Given the description of an element on the screen output the (x, y) to click on. 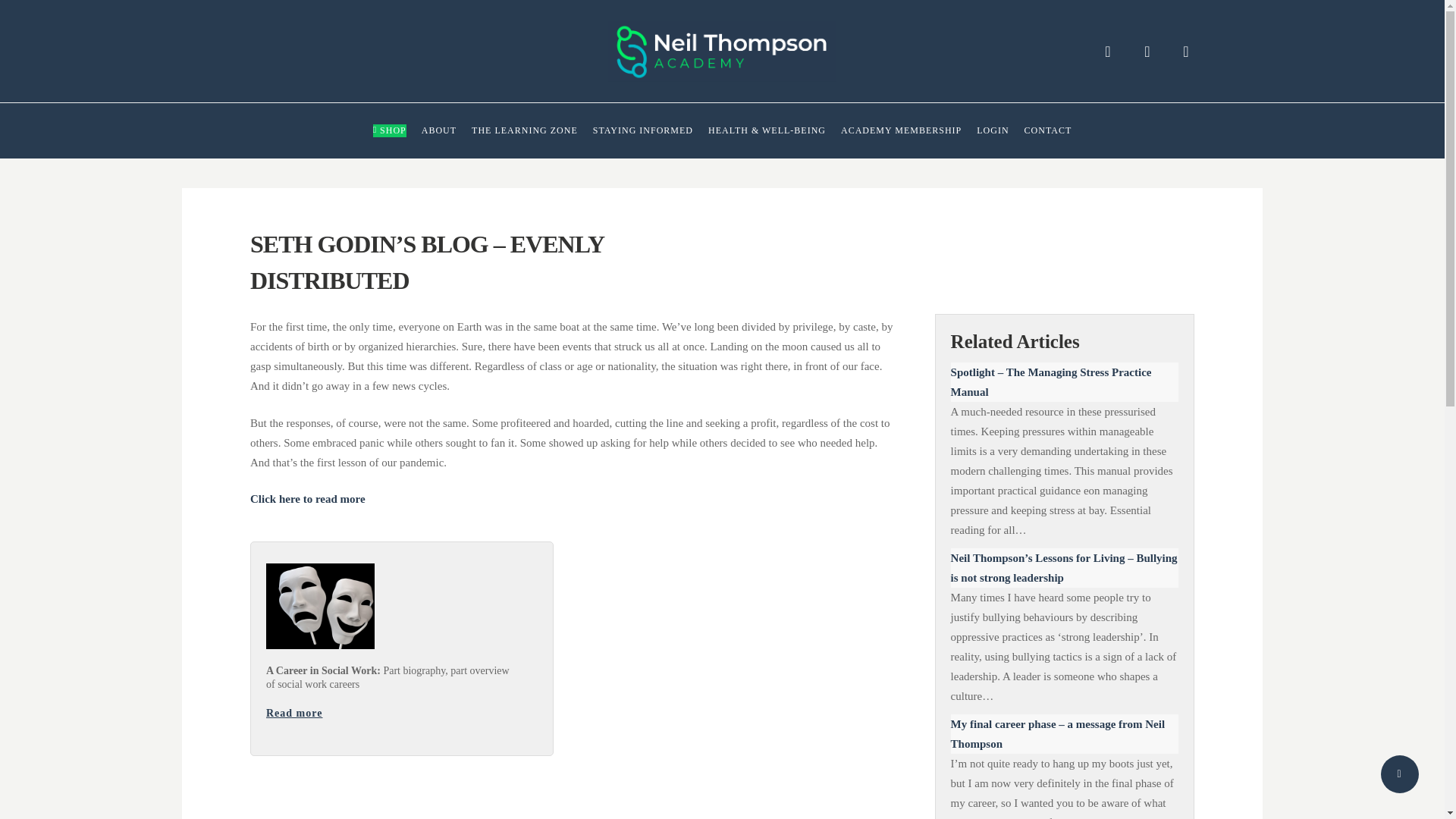
SHOP (389, 130)
search (1107, 51)
THE LEARNING ZONE (524, 130)
account (1147, 51)
ABOUT (439, 130)
